Given the description of an element on the screen output the (x, y) to click on. 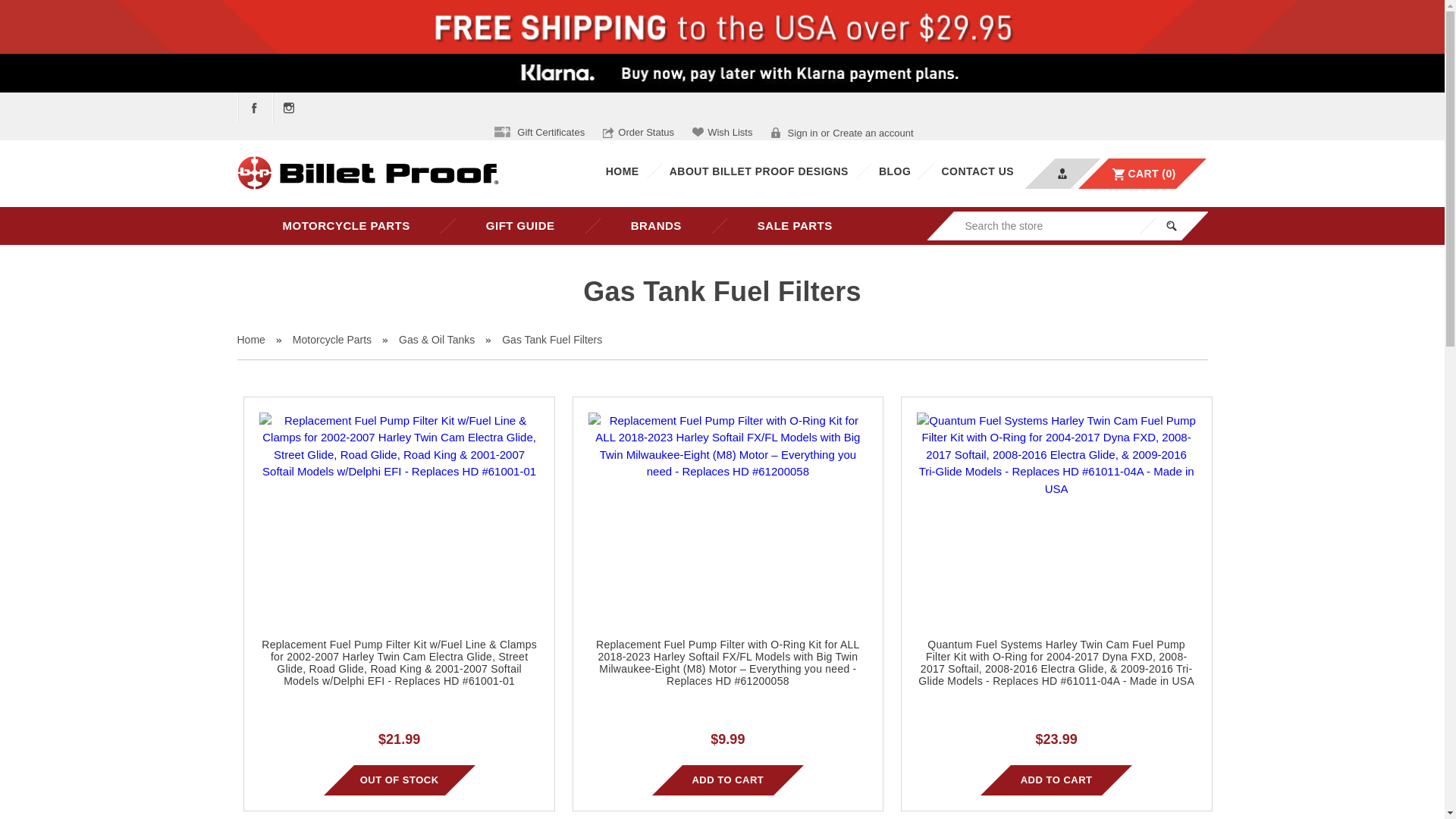
 Wish Lists (722, 132)
 Order Status (638, 132)
Billet Proof Designs (367, 173)
BLOG (894, 171)
HOME (622, 171)
 Gift Certificates (540, 132)
ABOUT BILLET PROOF DESIGNS (759, 171)
CONTACT US (977, 171)
 Sign in (794, 132)
